Given the description of an element on the screen output the (x, y) to click on. 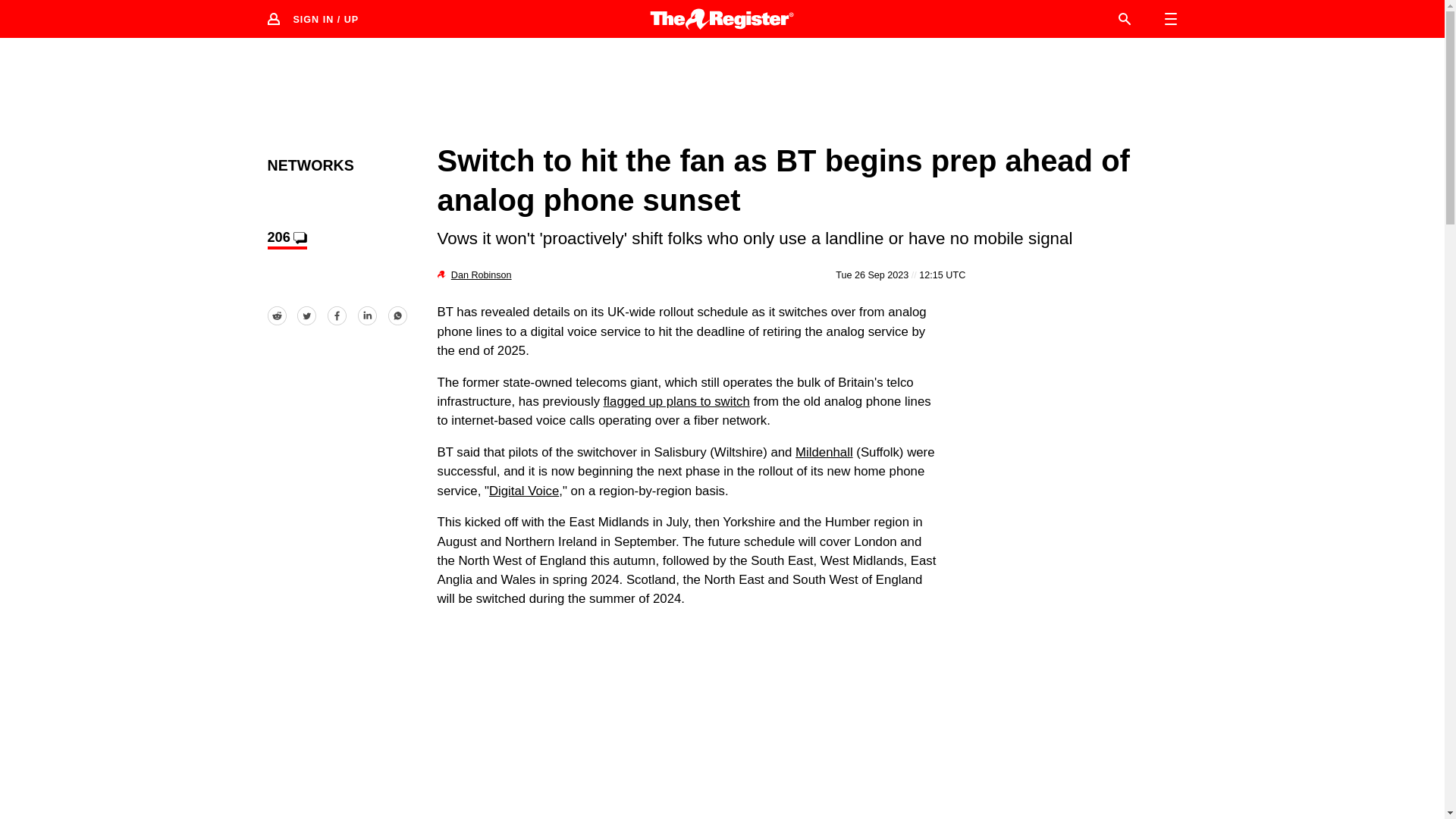
View comments on this article (285, 239)
Read more by this author (481, 274)
